Given the description of an element on the screen output the (x, y) to click on. 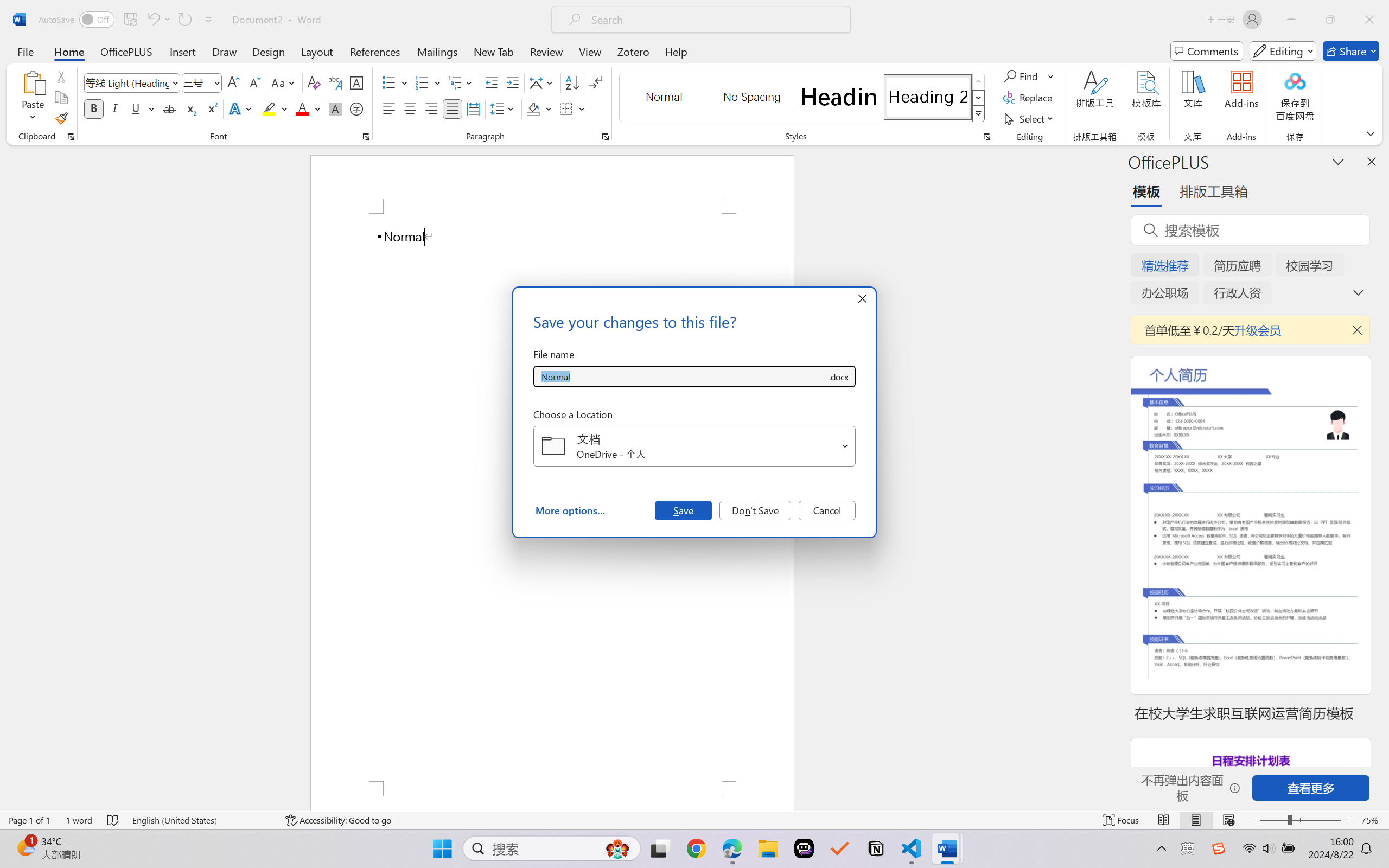
Grow Font (233, 82)
Help (675, 51)
Font (132, 82)
Change Case (284, 82)
Font... (365, 136)
Customize Quick Access Toolbar (208, 19)
AutomationID: DynamicSearchBoxGleamImage (617, 848)
Enclose Characters... (356, 108)
Show/Hide Editing Marks (595, 82)
Restore Down (1330, 19)
